Given the description of an element on the screen output the (x, y) to click on. 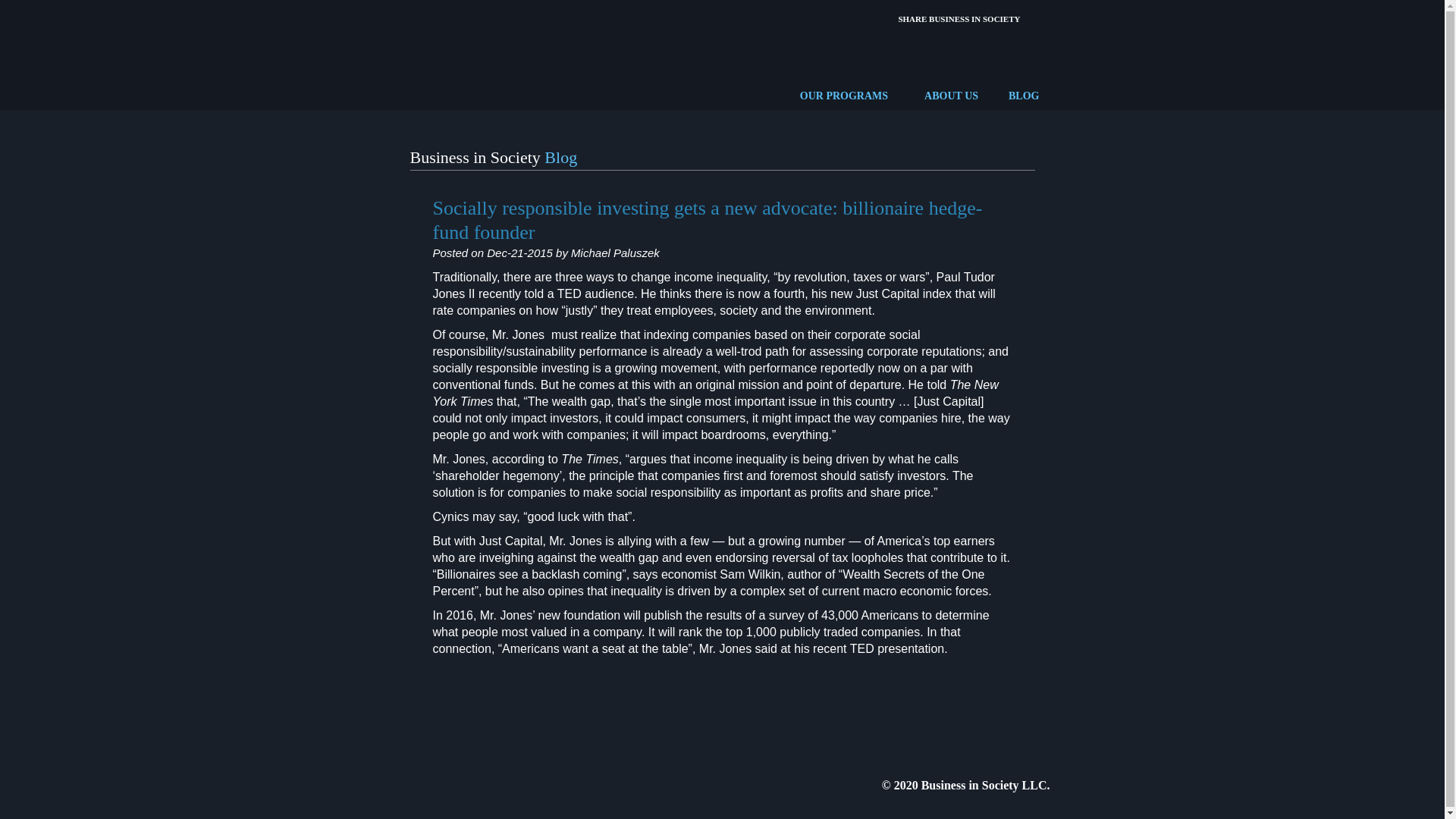
BLOG (1024, 96)
OUR PROGRAMS (843, 96)
ABOUT US (951, 96)
Business In Society Home (453, 52)
